Given the description of an element on the screen output the (x, y) to click on. 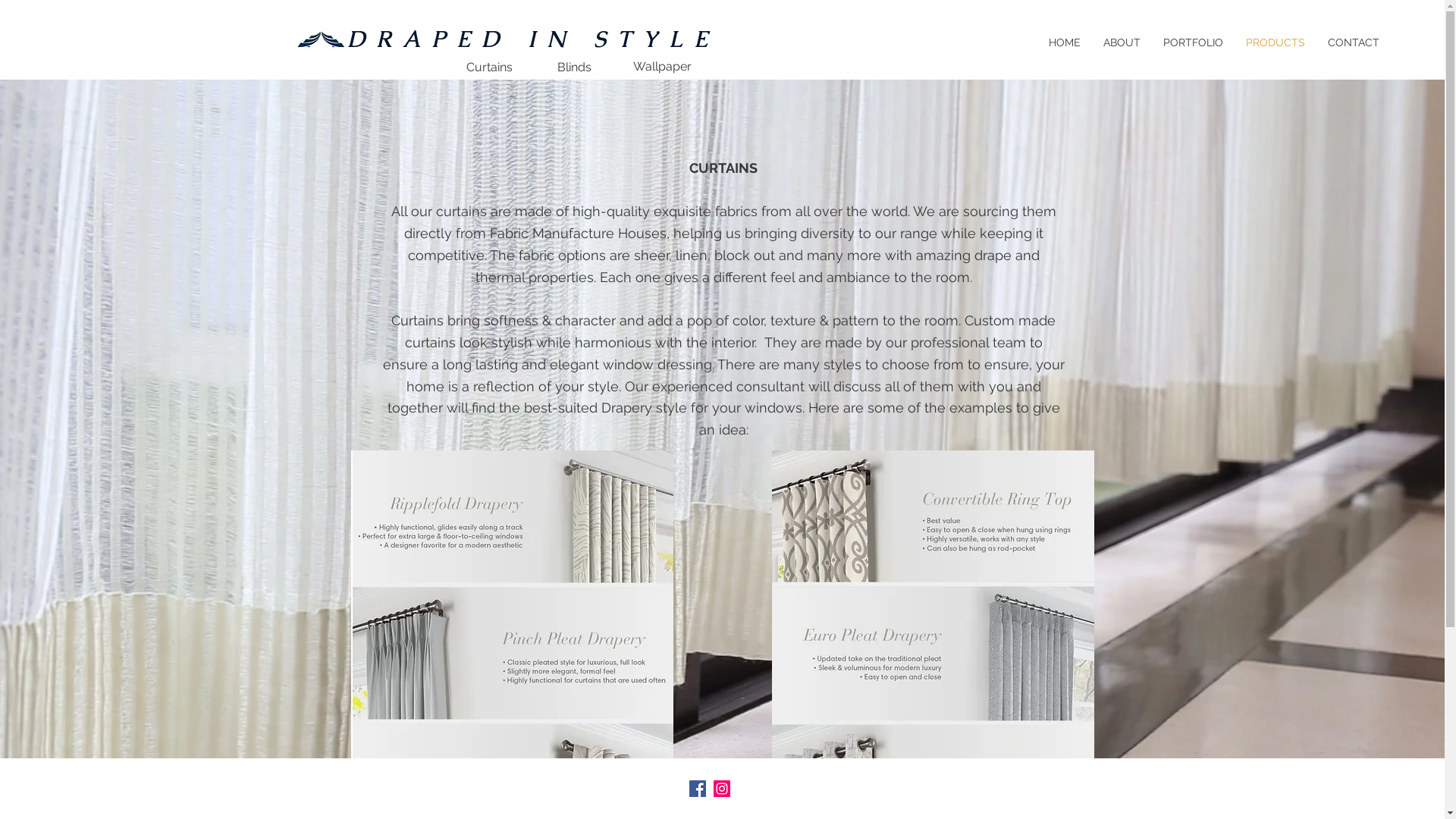
PORTFOLIO Element type: text (1192, 42)
HOME Element type: text (1064, 42)
ABOUT Element type: text (1121, 42)
Wallpaper Element type: text (661, 66)
Blinds Element type: text (574, 67)
PRODUCTS Element type: text (1275, 42)
CONTACT Element type: text (1353, 42)
Curtains Element type: text (488, 67)
